Given the description of an element on the screen output the (x, y) to click on. 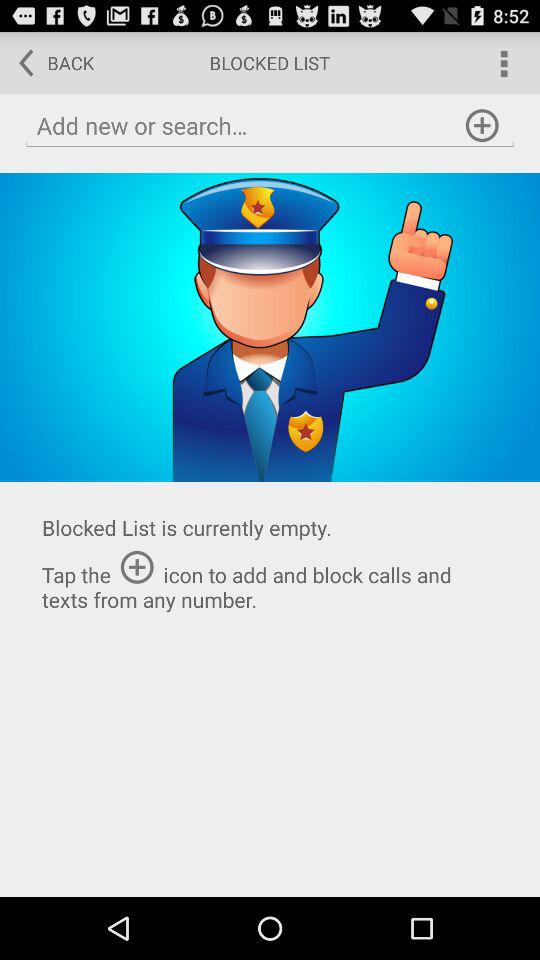
open menu options (502, 62)
